Given the description of an element on the screen output the (x, y) to click on. 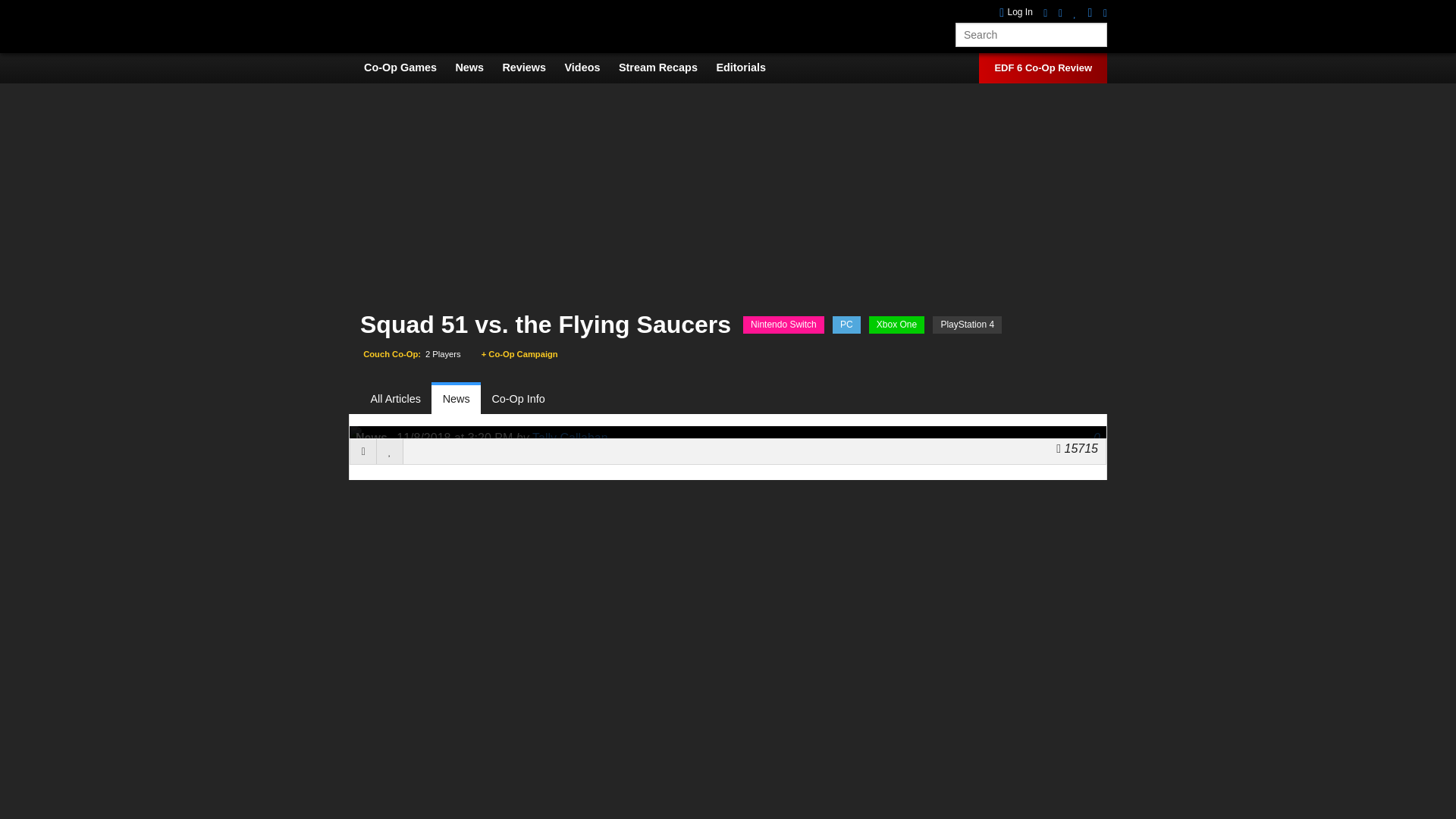
EDF 6 Co-Op Review (1043, 67)
 Log In (1015, 11)
Nintendo Switch (783, 324)
Co-Op Games (407, 67)
Weekly Video Streams and VODs from Co-Optimus (665, 67)
Stream Recaps (665, 67)
Reviews (531, 67)
PlayStation 4 (967, 324)
PC (846, 324)
All Articles (399, 398)
